Given the description of an element on the screen output the (x, y) to click on. 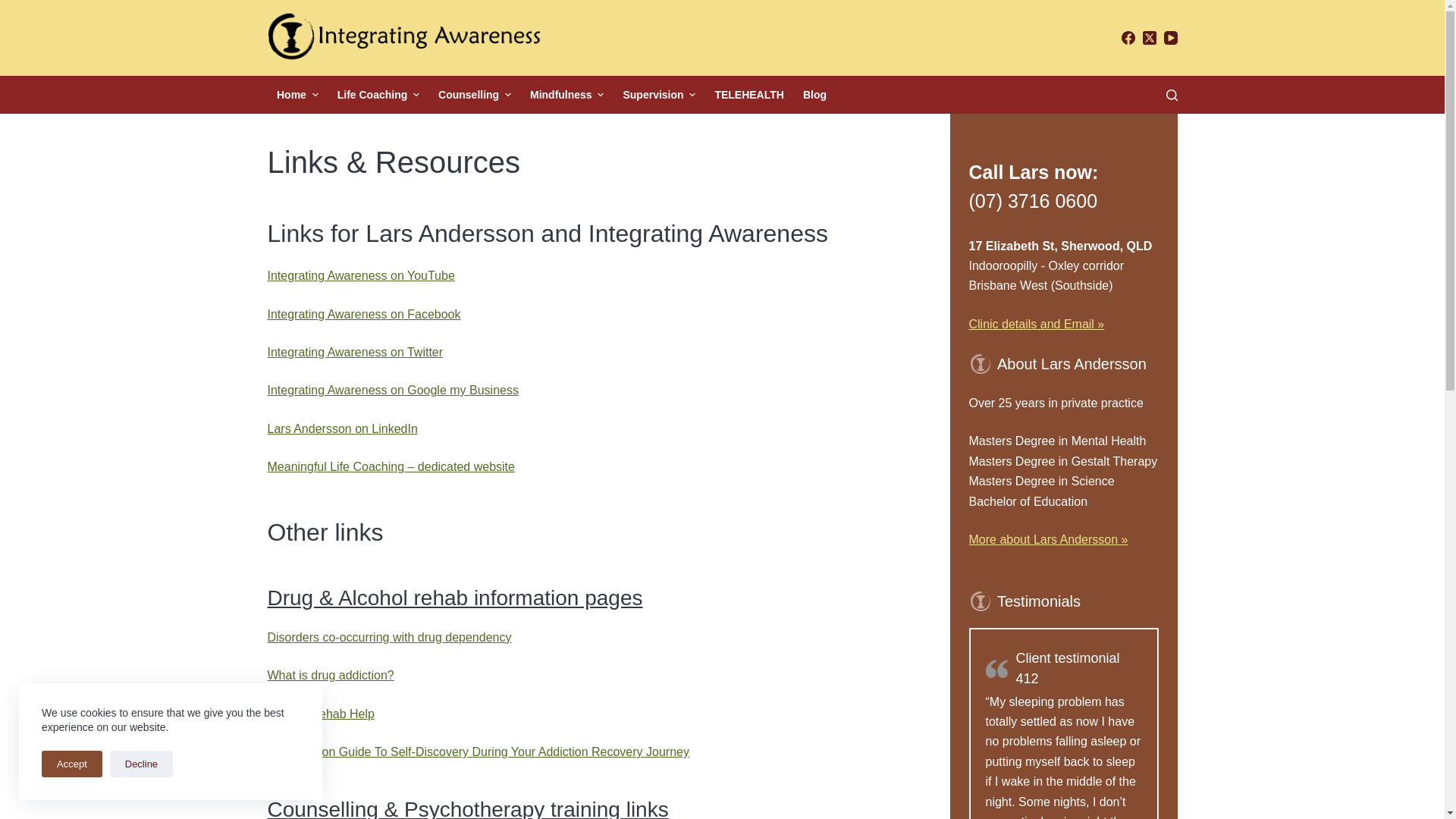
Mindfulness Element type: text (566, 94)
Integrating Awareness on Google my Business Element type: text (391, 389)
Disorders co-occurring with drug dependency Element type: text (388, 636)
Life Coaching Element type: text (377, 94)
Alcohol Rehab Help Element type: text (319, 713)
Accept Element type: text (71, 763)
Decline Element type: text (140, 763)
Lars Andersson on LinkedIn Element type: text (341, 428)
Home Element type: text (296, 94)
Integrating Awareness on Facebook Element type: text (363, 313)
Integrating Awareness on Twitter Element type: text (354, 351)
Counselling Element type: text (474, 94)
Integrating Awareness on YouTube Element type: text (360, 275)
Supervision Element type: text (659, 94)
TELEHEALTH Element type: text (749, 94)
Blog Element type: text (814, 94)
What is drug addiction? Element type: text (329, 674)
Skip to content Element type: text (15, 7)
